Given the description of an element on the screen output the (x, y) to click on. 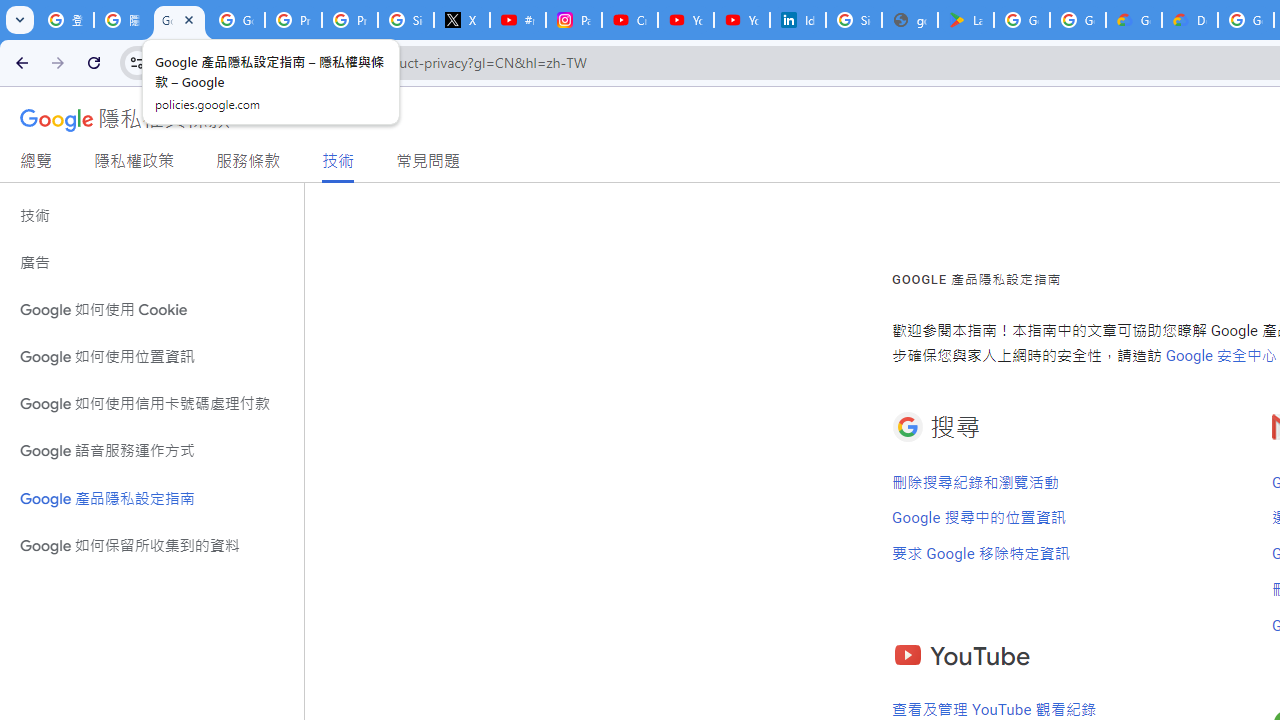
#nbabasketballhighlights - YouTube (518, 20)
